Given the description of an element on the screen output the (x, y) to click on. 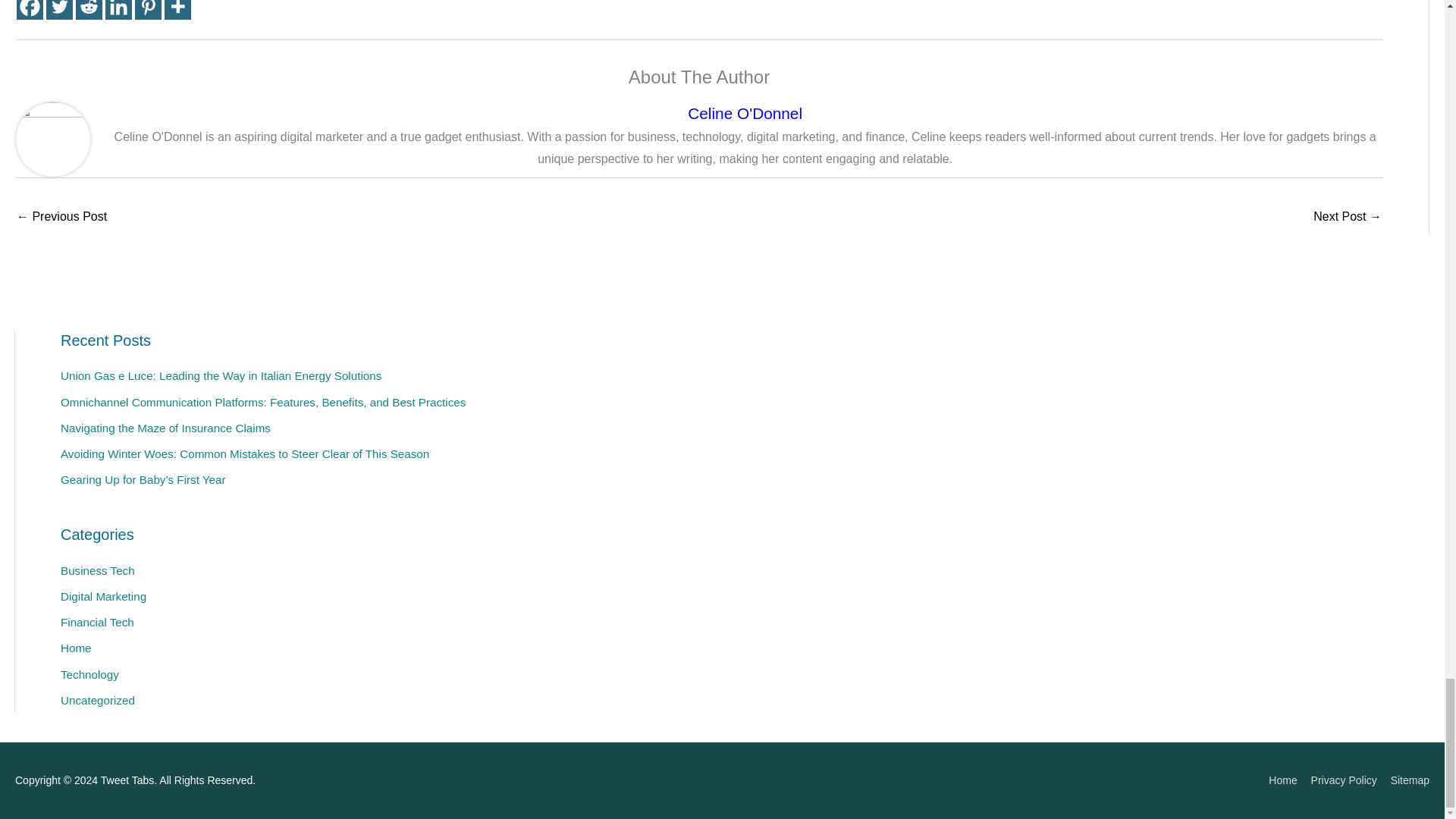
Reddit (88, 9)
Facebook (29, 9)
Twitter (59, 9)
